Given the description of an element on the screen output the (x, y) to click on. 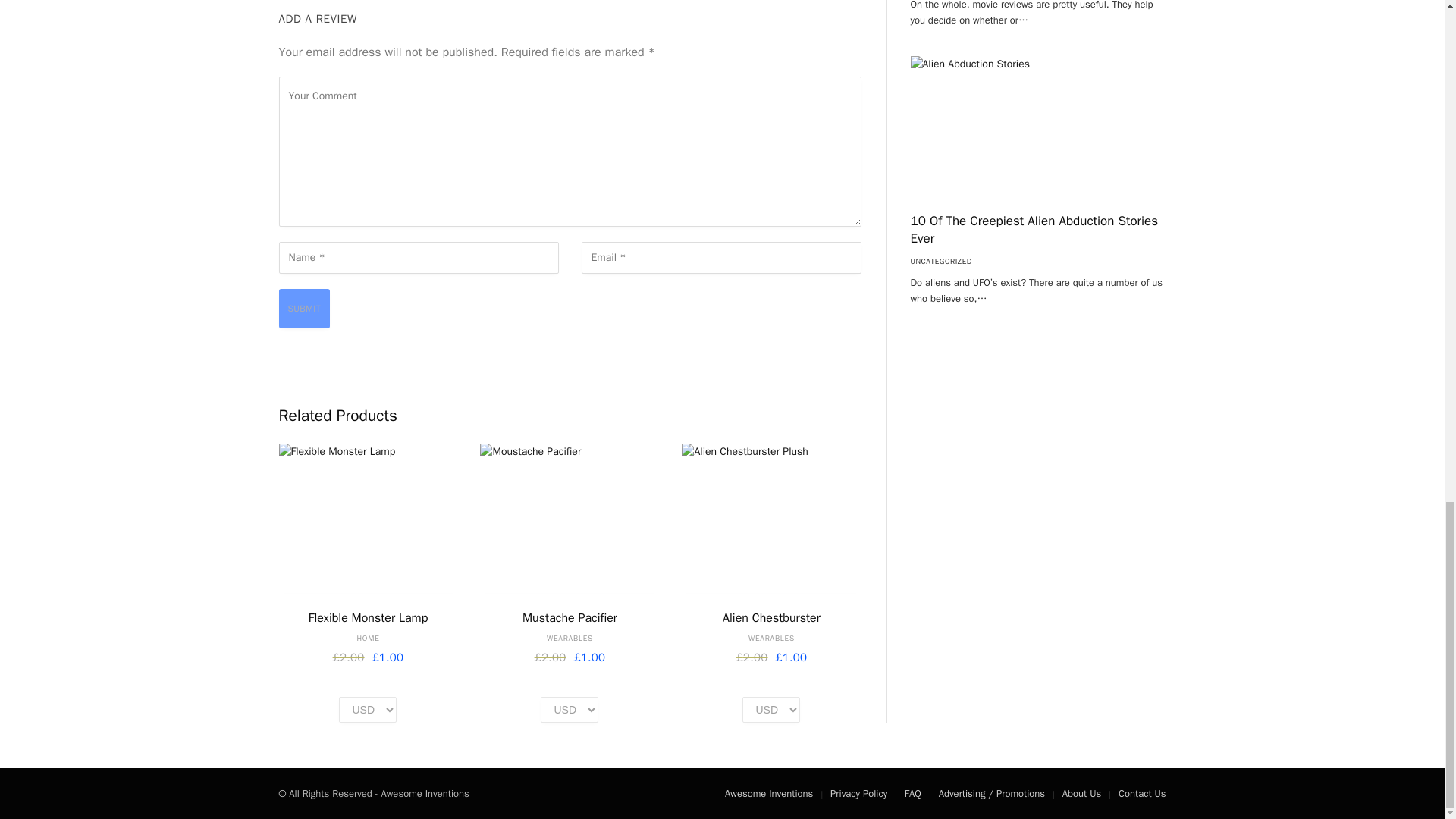
Submit (304, 309)
